Given the description of an element on the screen output the (x, y) to click on. 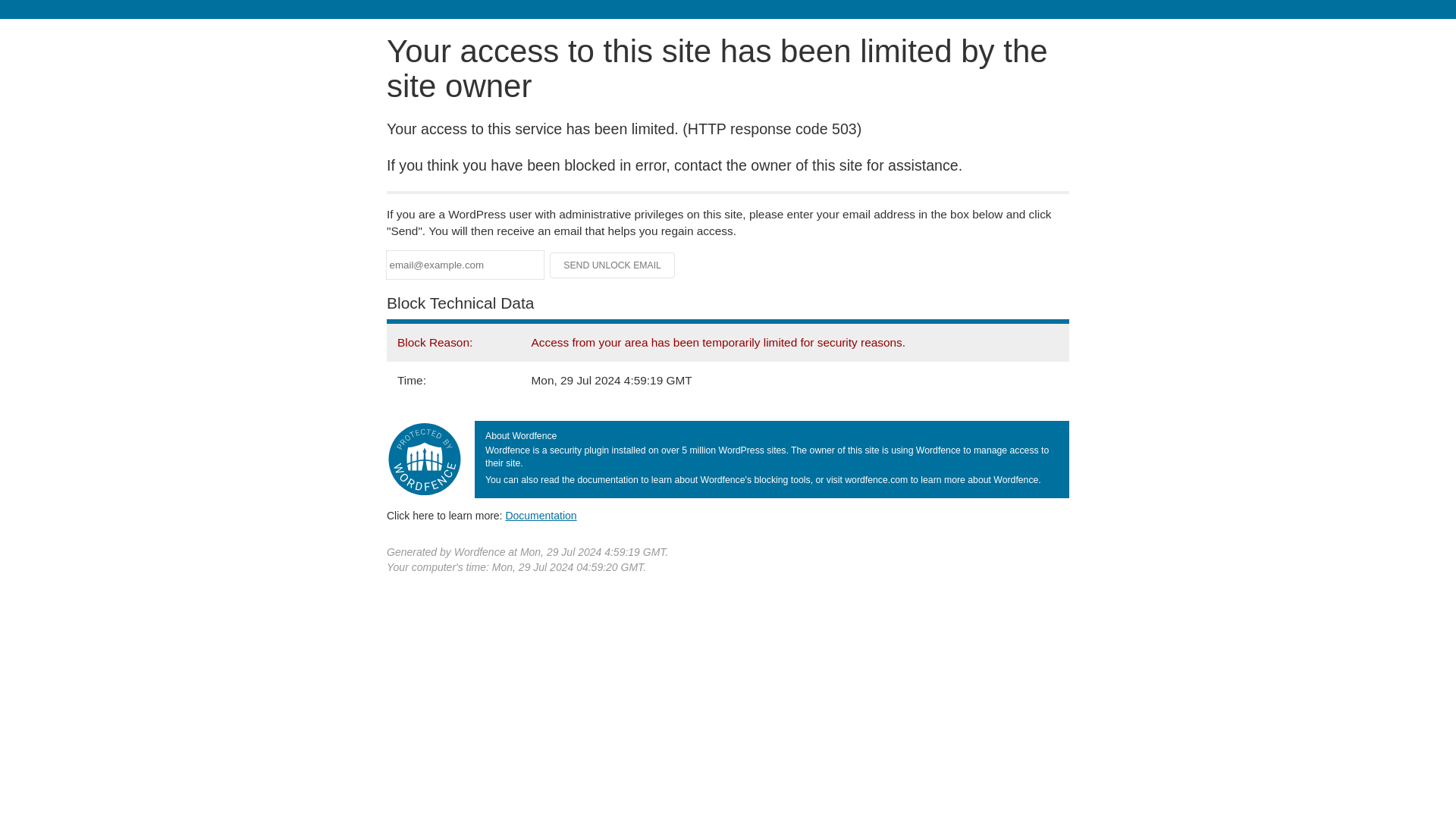
Send Unlock Email (612, 265)
Send Unlock Email (612, 265)
Documentation (540, 515)
